Given the description of an element on the screen output the (x, y) to click on. 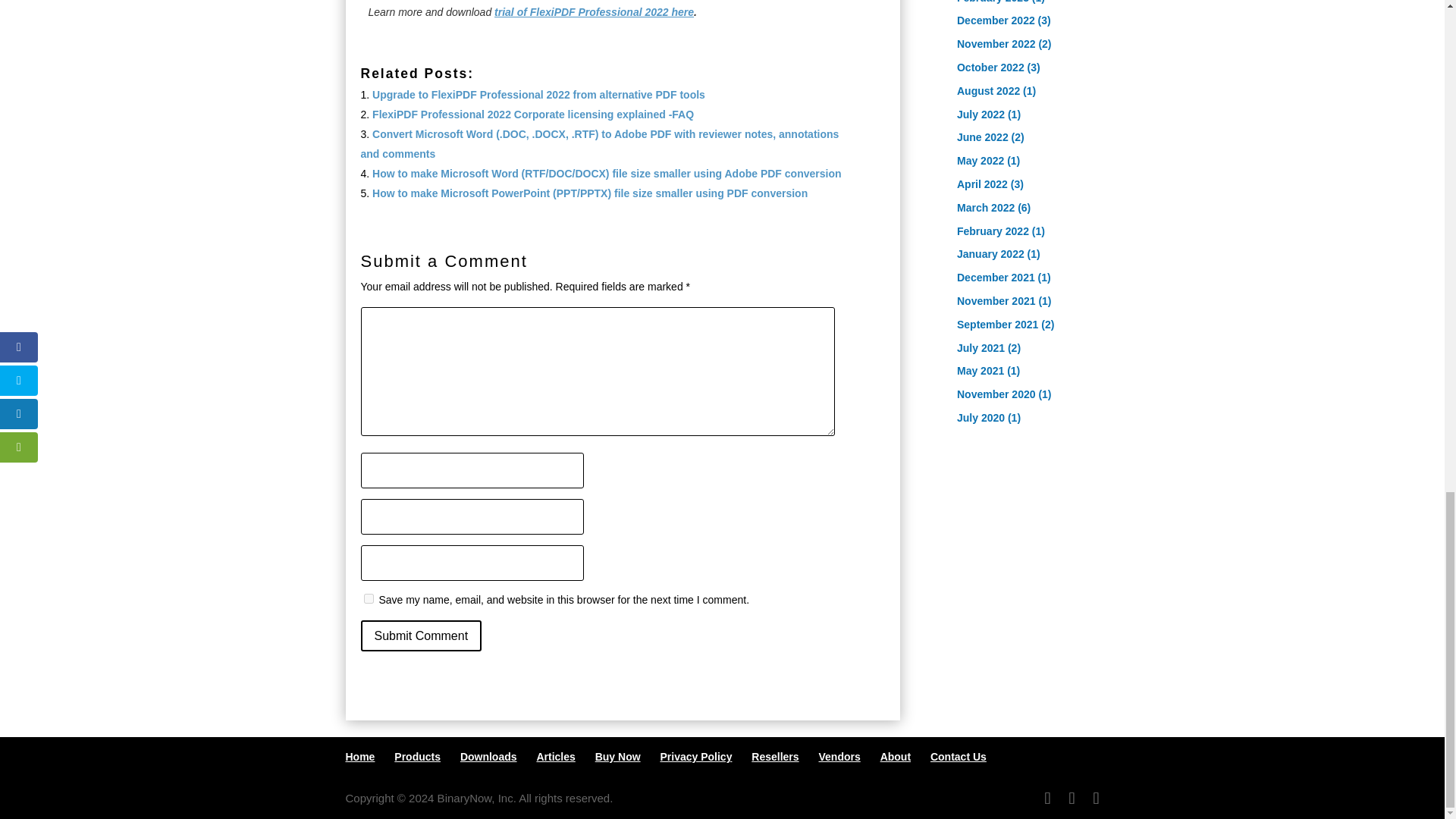
trial of FlexiPDF Professional 2022 here (594, 11)
Submit Comment (421, 635)
yes (369, 598)
